Given the description of an element on the screen output the (x, y) to click on. 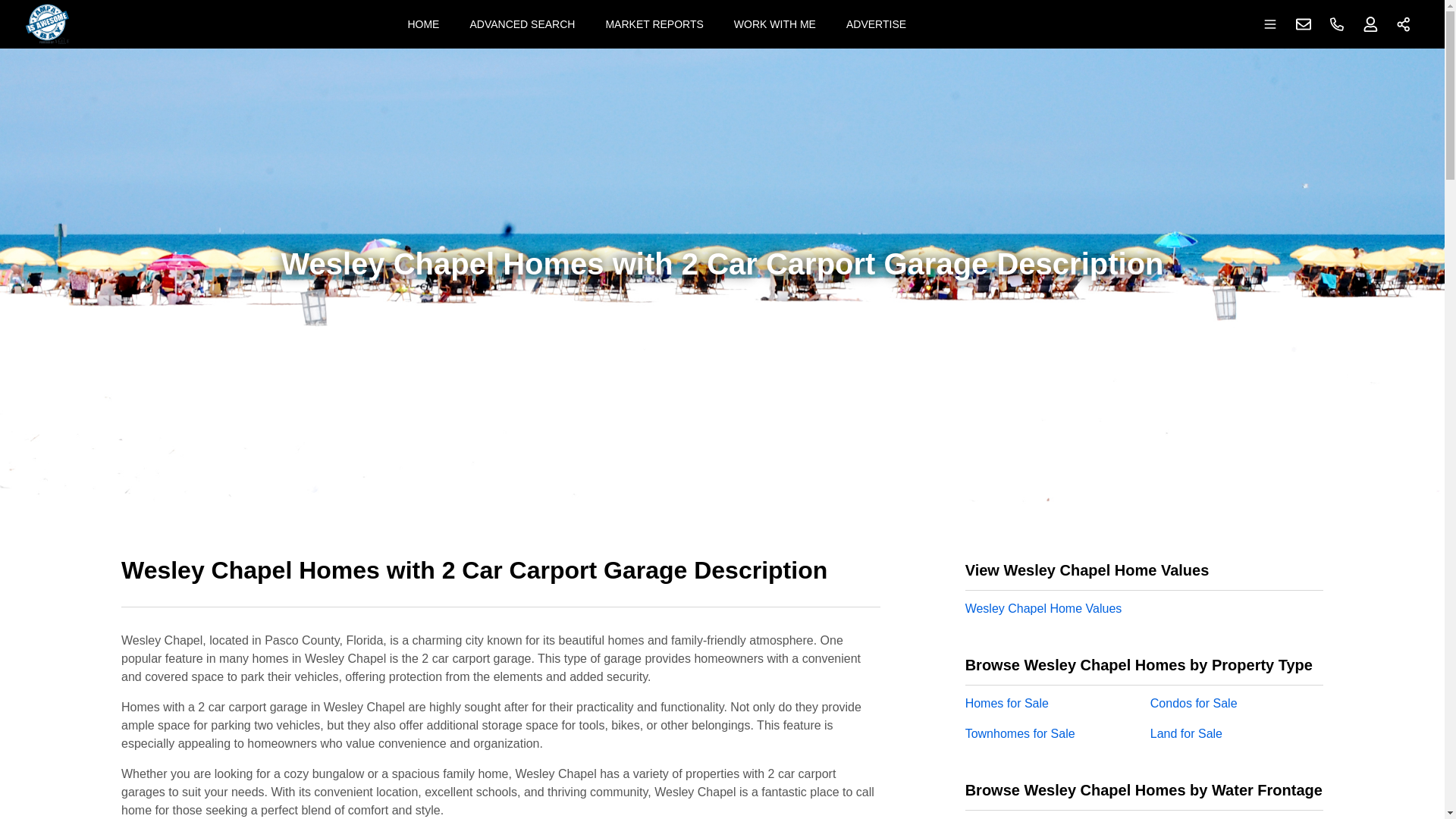
Share (1404, 23)
Open main menu (1270, 23)
HOME (422, 24)
Contact us (1303, 23)
Sign up or Sign in (1370, 23)
MARKET REPORTS (653, 24)
ADVERTISE (876, 24)
ADVANCED SEARCH (521, 24)
Phone number (1337, 23)
WORK WITH ME (775, 24)
Tampabayisawesome.com (46, 24)
Wesley Chapel Homes with 2 Car Carport Garage Description (500, 579)
